Given the description of an element on the screen output the (x, y) to click on. 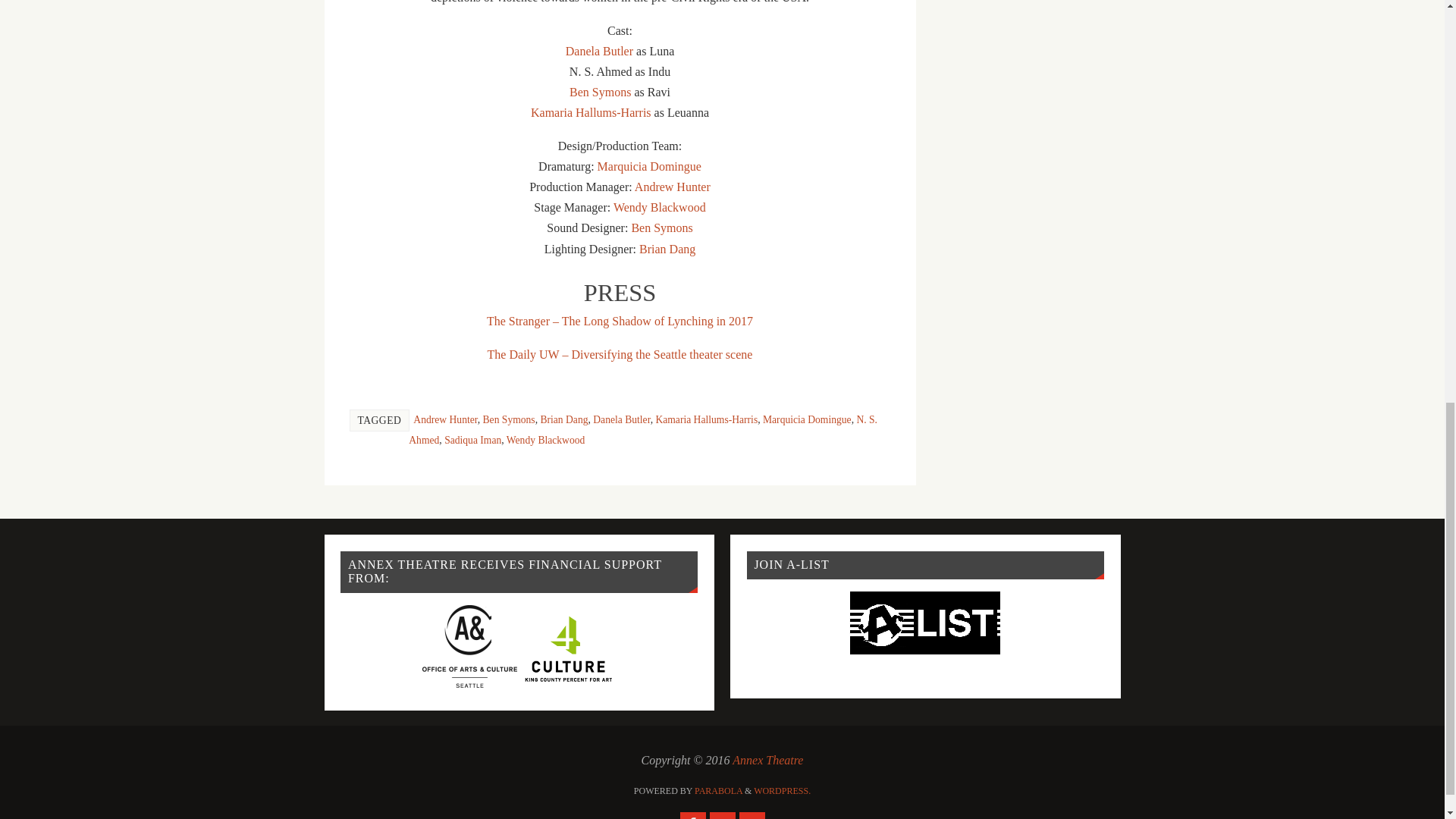
Parabola Theme by Cryout Creations (718, 790)
Twitter (722, 815)
Facebook (691, 815)
Instagram (751, 815)
Annex Theatre (767, 759)
Semantic Personal Publishing Platform (782, 790)
